Given the description of an element on the screen output the (x, y) to click on. 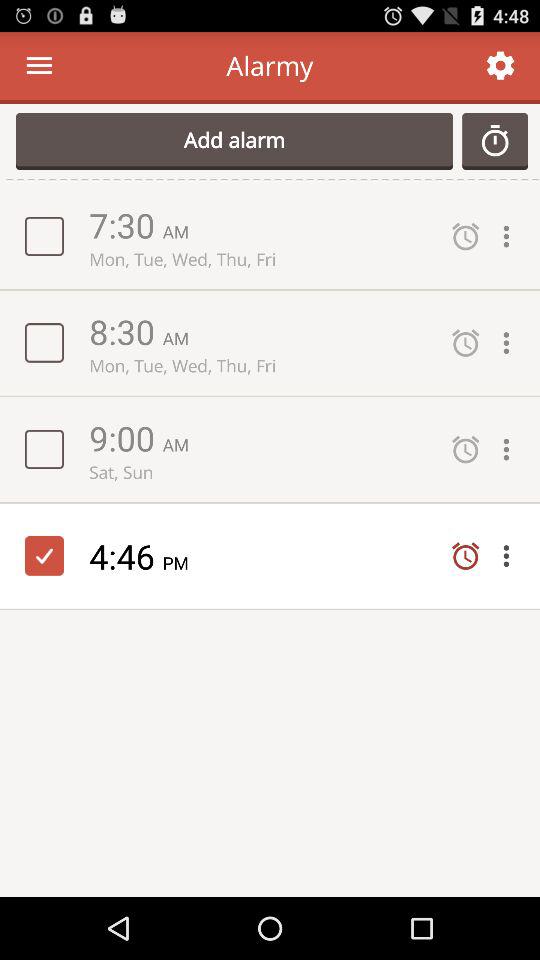
click the app below the sat, sun app (125, 555)
